Given the description of an element on the screen output the (x, y) to click on. 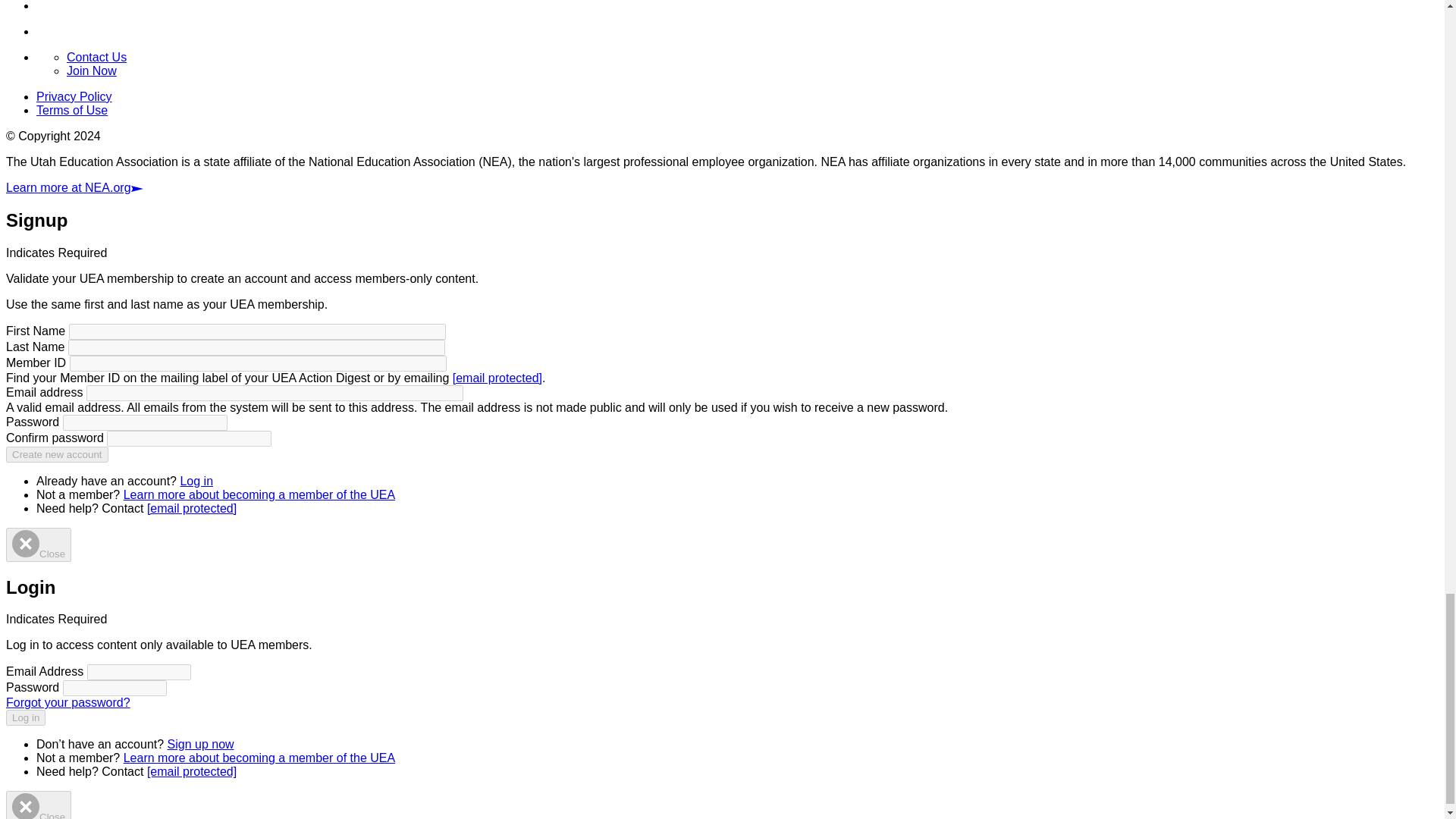
Sign in now (195, 481)
Send password reset instructions via email. (68, 702)
Need help? (191, 771)
Create new account (56, 454)
Learn more about becoming a member of the UEA. (258, 494)
Log in (25, 717)
Get login and user registration help. (191, 508)
Sign up now (200, 744)
Learn more about becoming a member of the UEA. (258, 757)
